Given the description of an element on the screen output the (x, y) to click on. 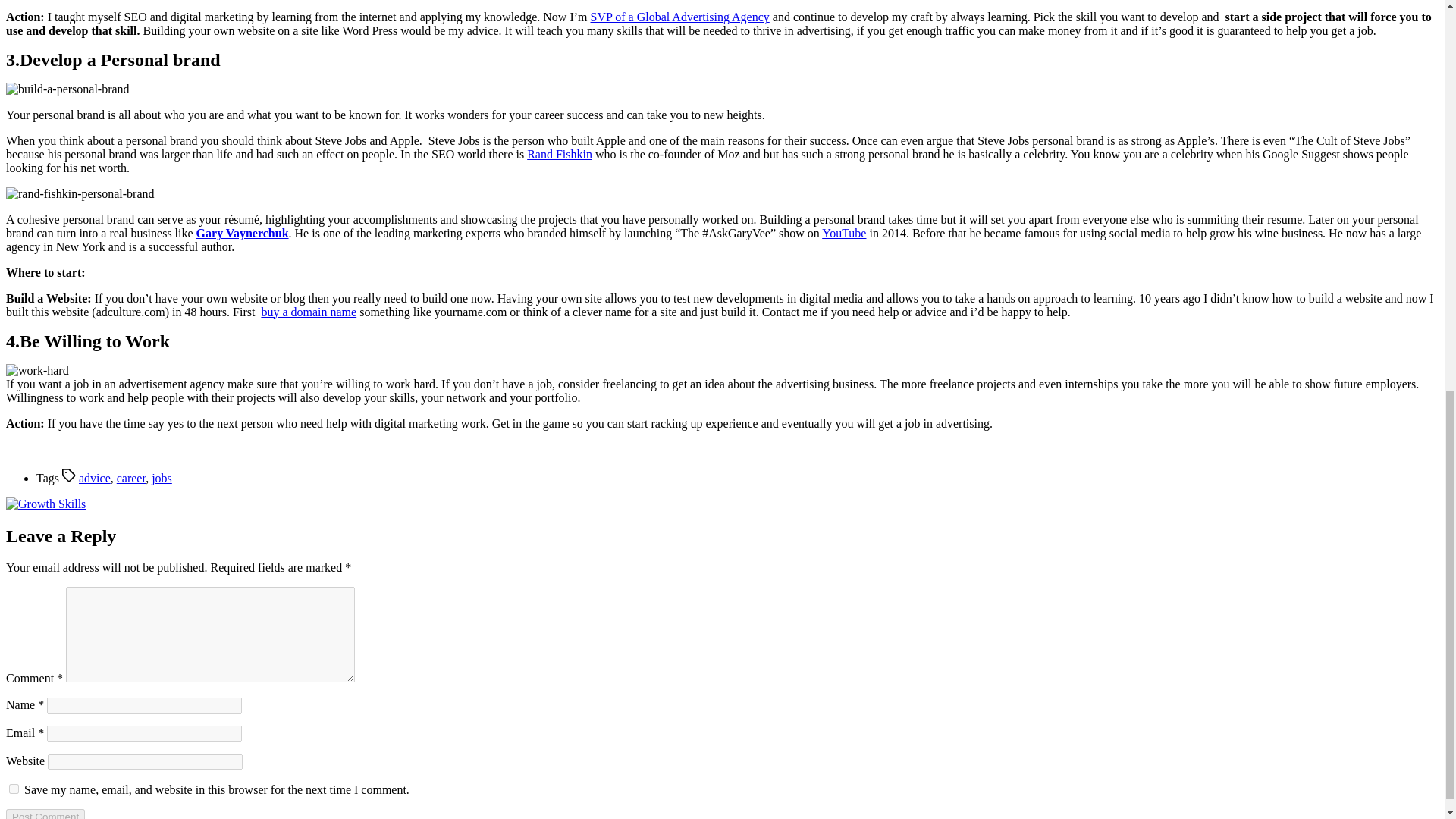
SVP of a Global Advertising Agency (678, 16)
buy a domain name (308, 311)
advice (94, 477)
Gary Vaynerchuk (242, 232)
Rand Fishkin (559, 154)
jobs (161, 477)
YouTube (844, 232)
yes (13, 788)
career (130, 477)
